Given the description of an element on the screen output the (x, y) to click on. 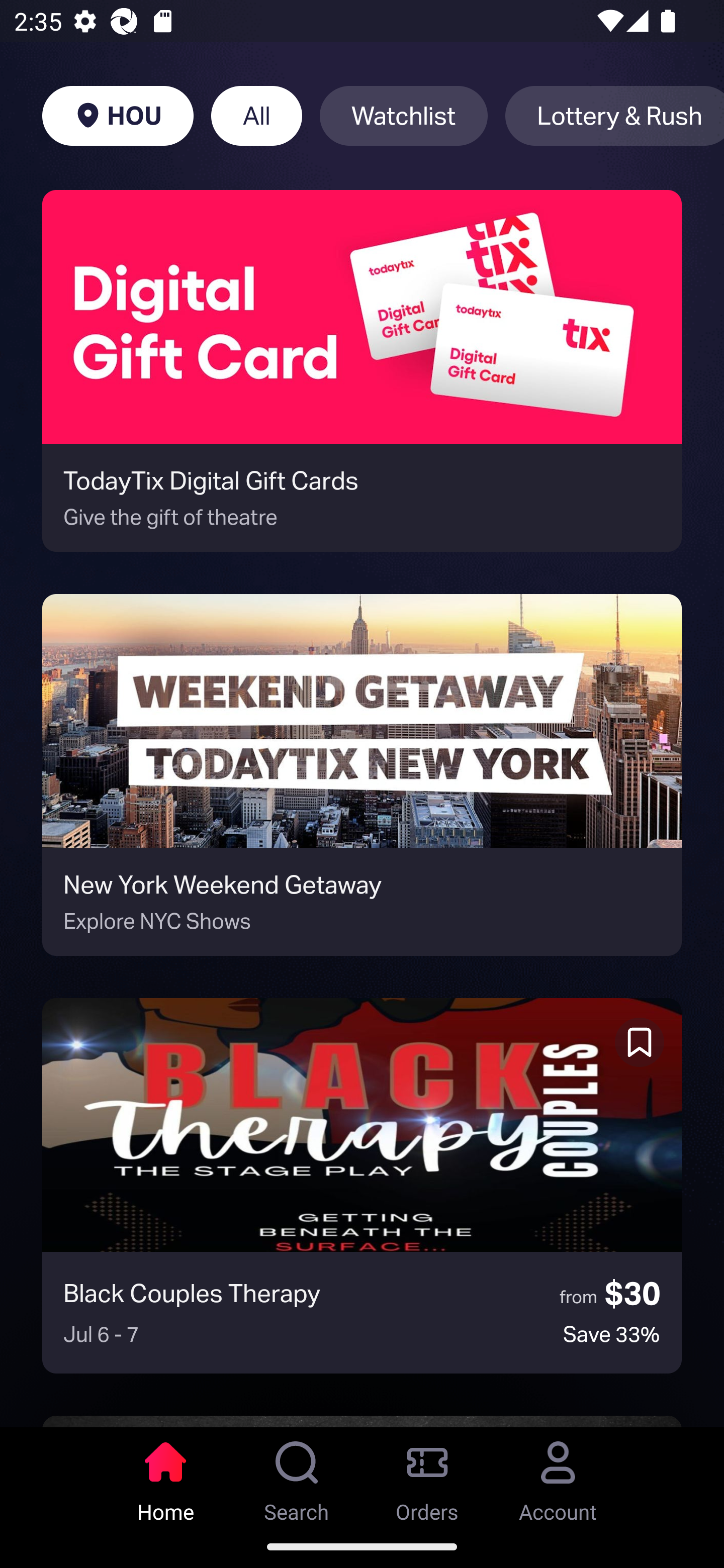
HOU (117, 115)
All (256, 115)
Watchlist (403, 115)
Lottery & Rush (614, 115)
New York Weekend Getaway Explore NYC Shows (361, 775)
Black Couples Therapy from $30 Jul 6 - 7 Save 33% (361, 1185)
Search (296, 1475)
Orders (427, 1475)
Account (558, 1475)
